Given the description of an element on the screen output the (x, y) to click on. 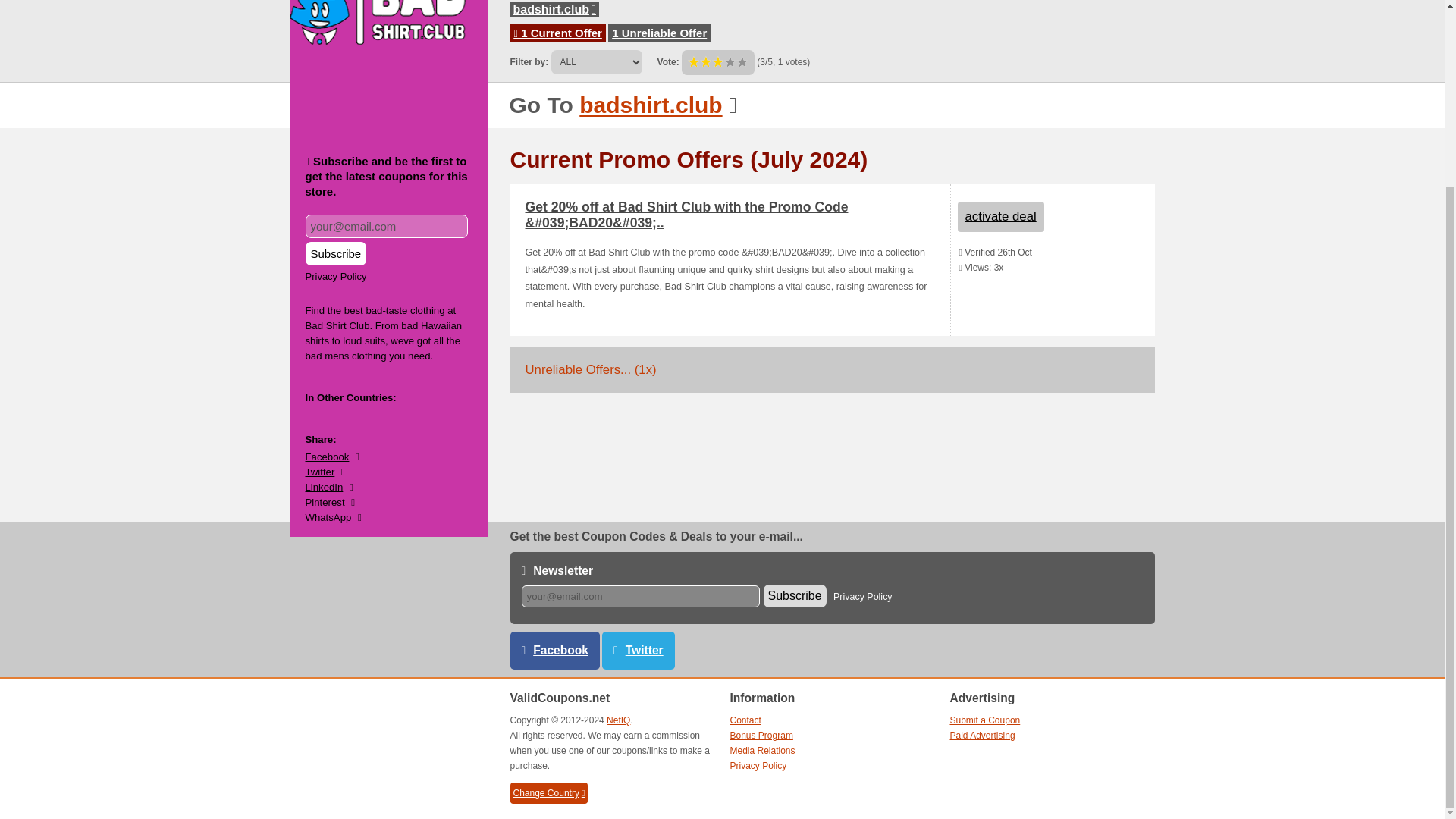
badshirt-club (553, 9)
Badshirt.club (650, 104)
